Given the description of an element on the screen output the (x, y) to click on. 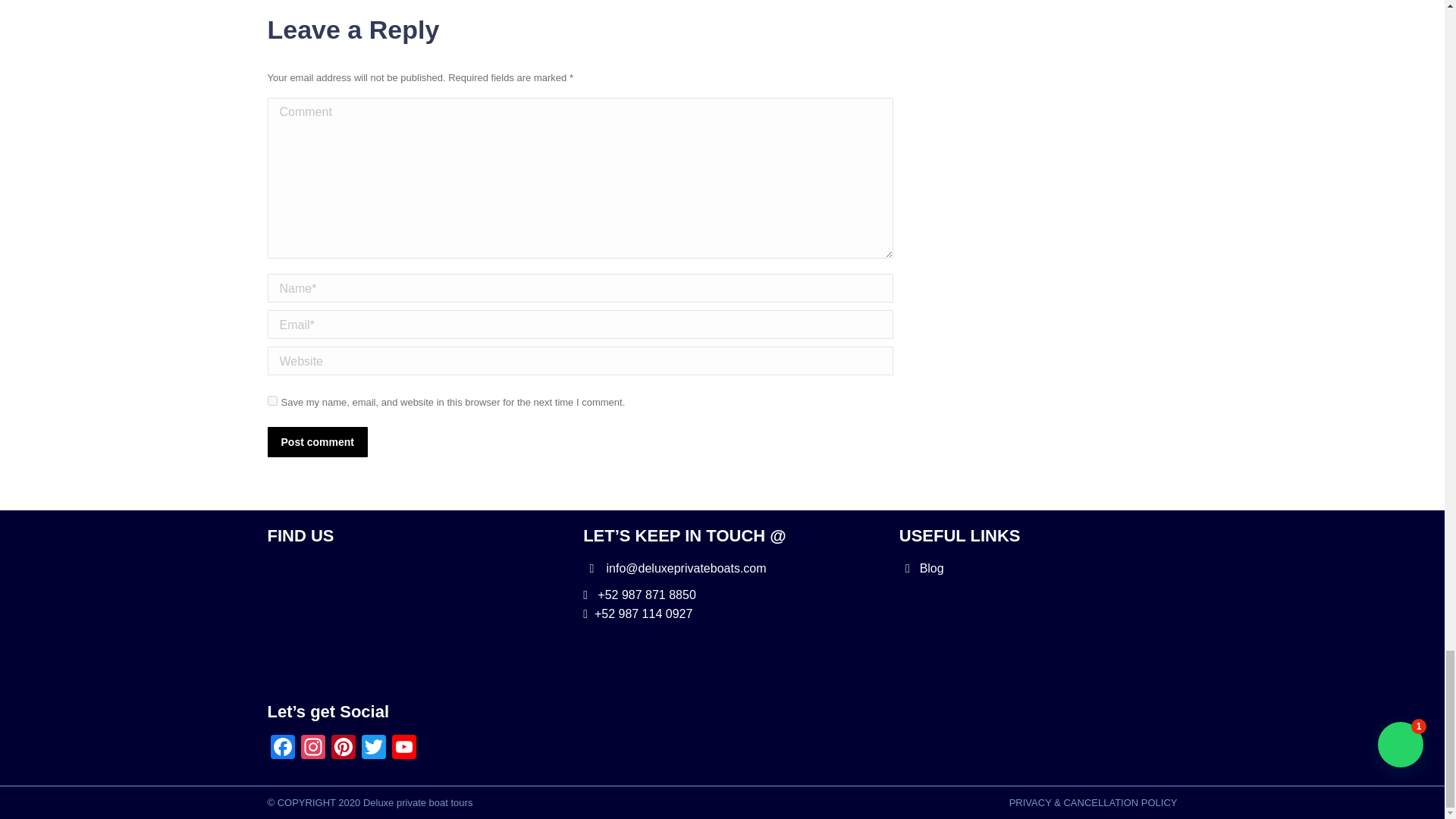
yes (271, 400)
